Given the description of an element on the screen output the (x, y) to click on. 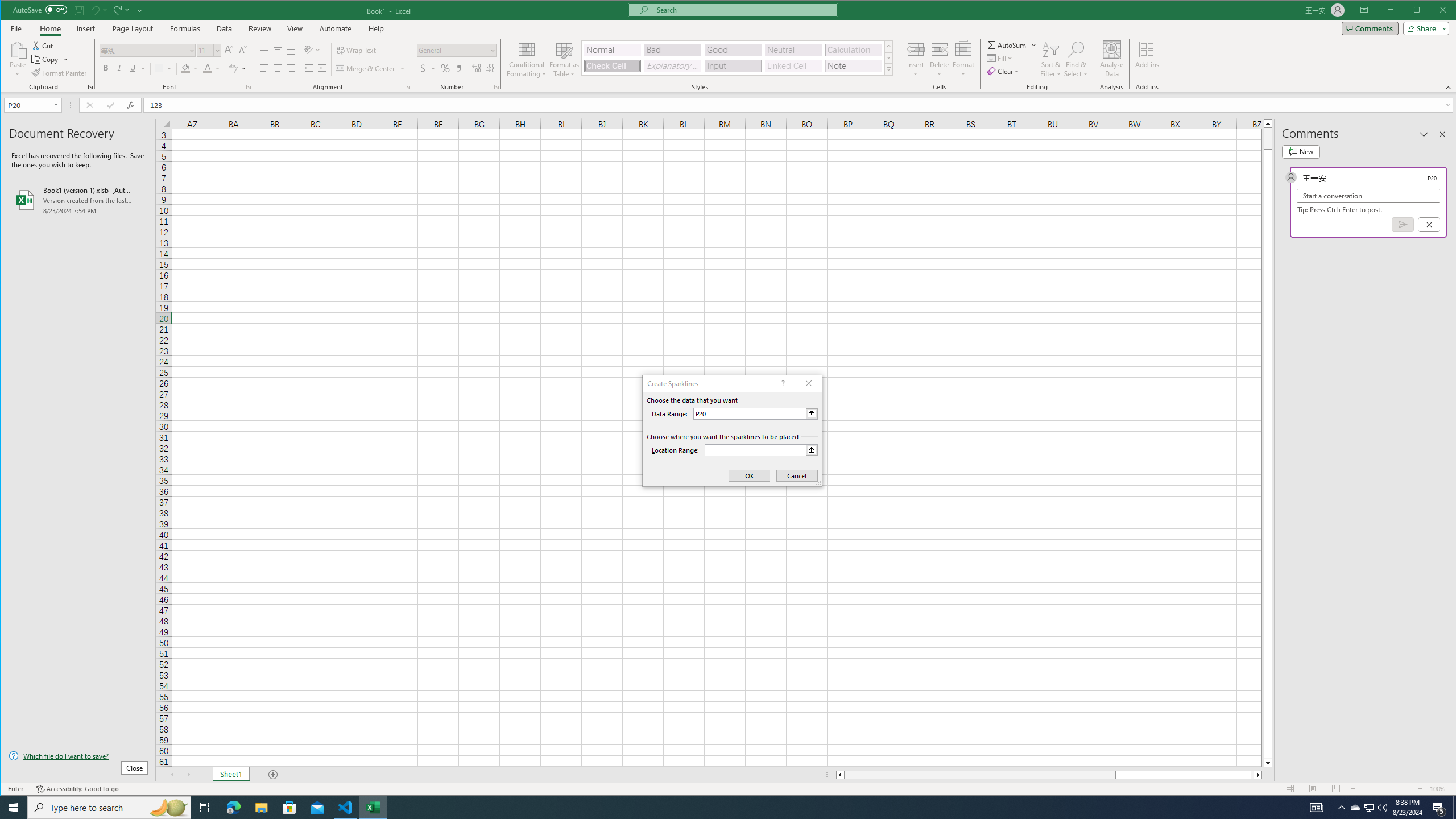
Microsoft search (742, 10)
Start a conversation (1368, 195)
Format Cell Number (496, 86)
Align Right (291, 68)
Underline (137, 68)
AutoSum (1012, 44)
Fill (1000, 57)
Maximize (1432, 11)
Find & Select (1075, 59)
Font Size (208, 49)
Orientation (312, 49)
